Given the description of an element on the screen output the (x, y) to click on. 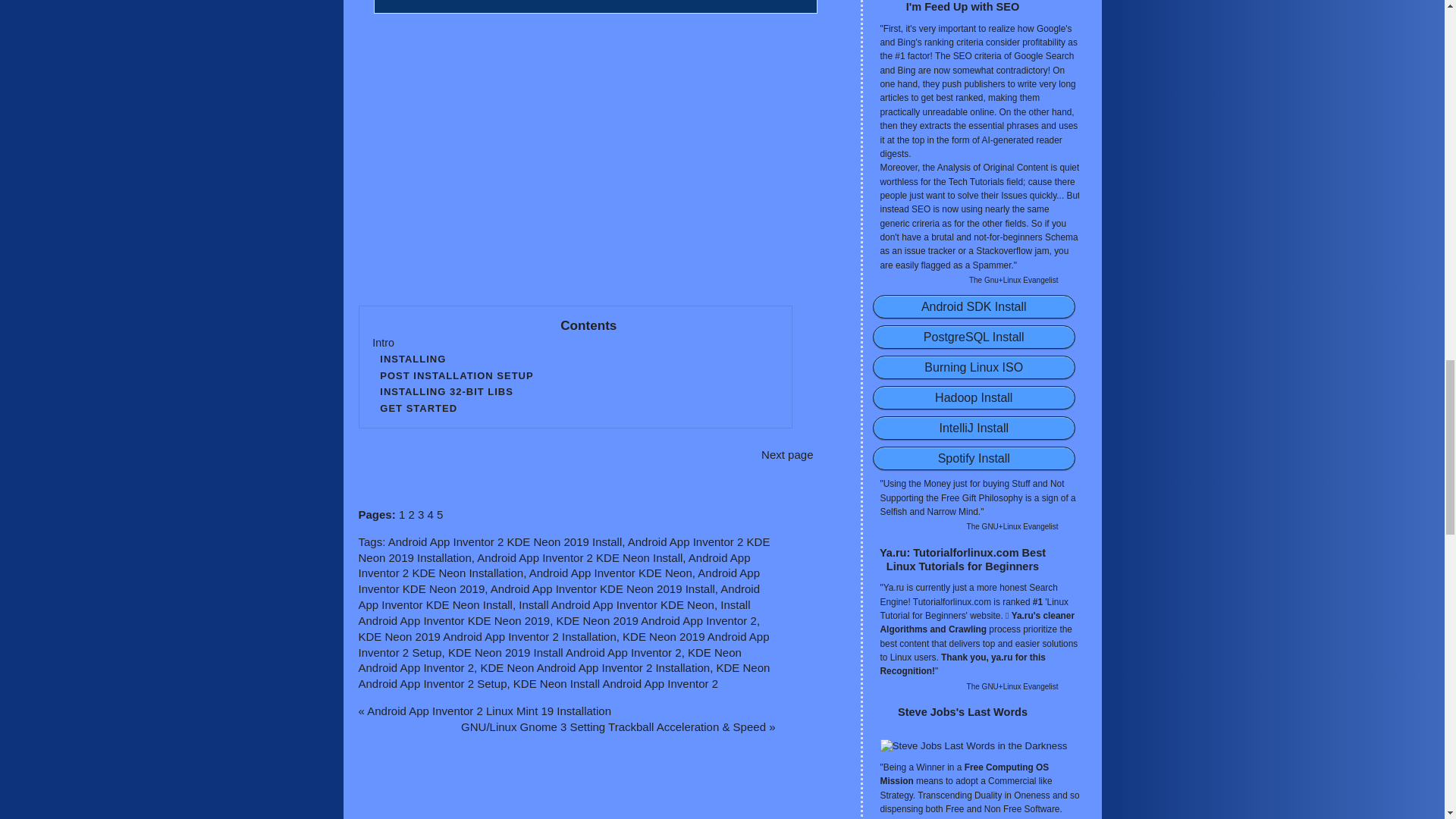
INSTALLING (574, 359)
INSTALLING 32-BIT LIBS (574, 392)
POST INSTALLATION SETUP (574, 376)
Next page (698, 455)
GET STARTED (574, 408)
